Given the description of an element on the screen output the (x, y) to click on. 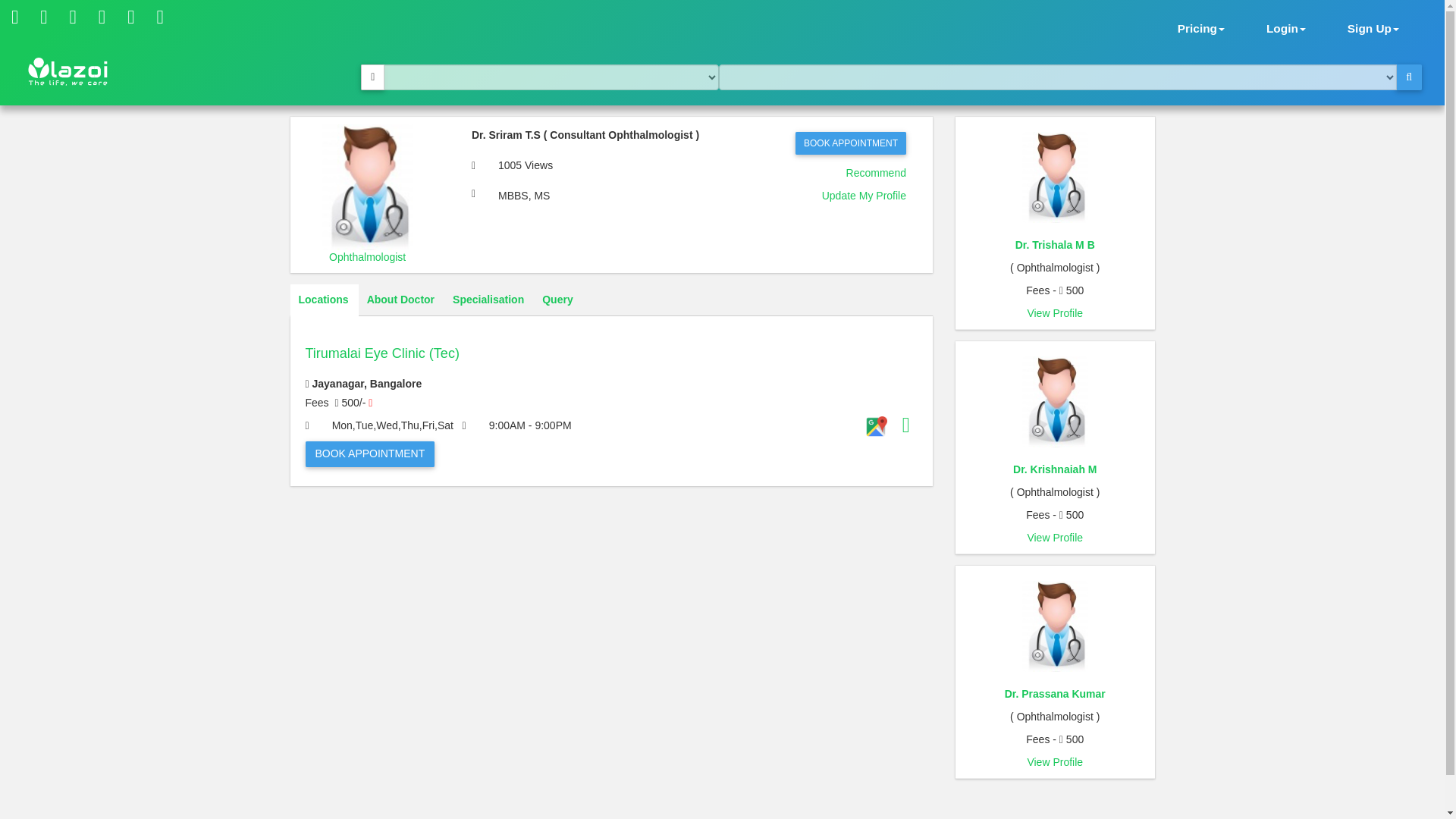
Sign Up (1372, 28)
BOOK APPOINTMENT (849, 142)
Current Location (372, 77)
Ophthalmologist (367, 256)
Pricing (1200, 28)
Specialisation (488, 300)
Login (1286, 28)
About Doctor (400, 300)
Locations (322, 300)
Update My Profile (863, 195)
